Given the description of an element on the screen output the (x, y) to click on. 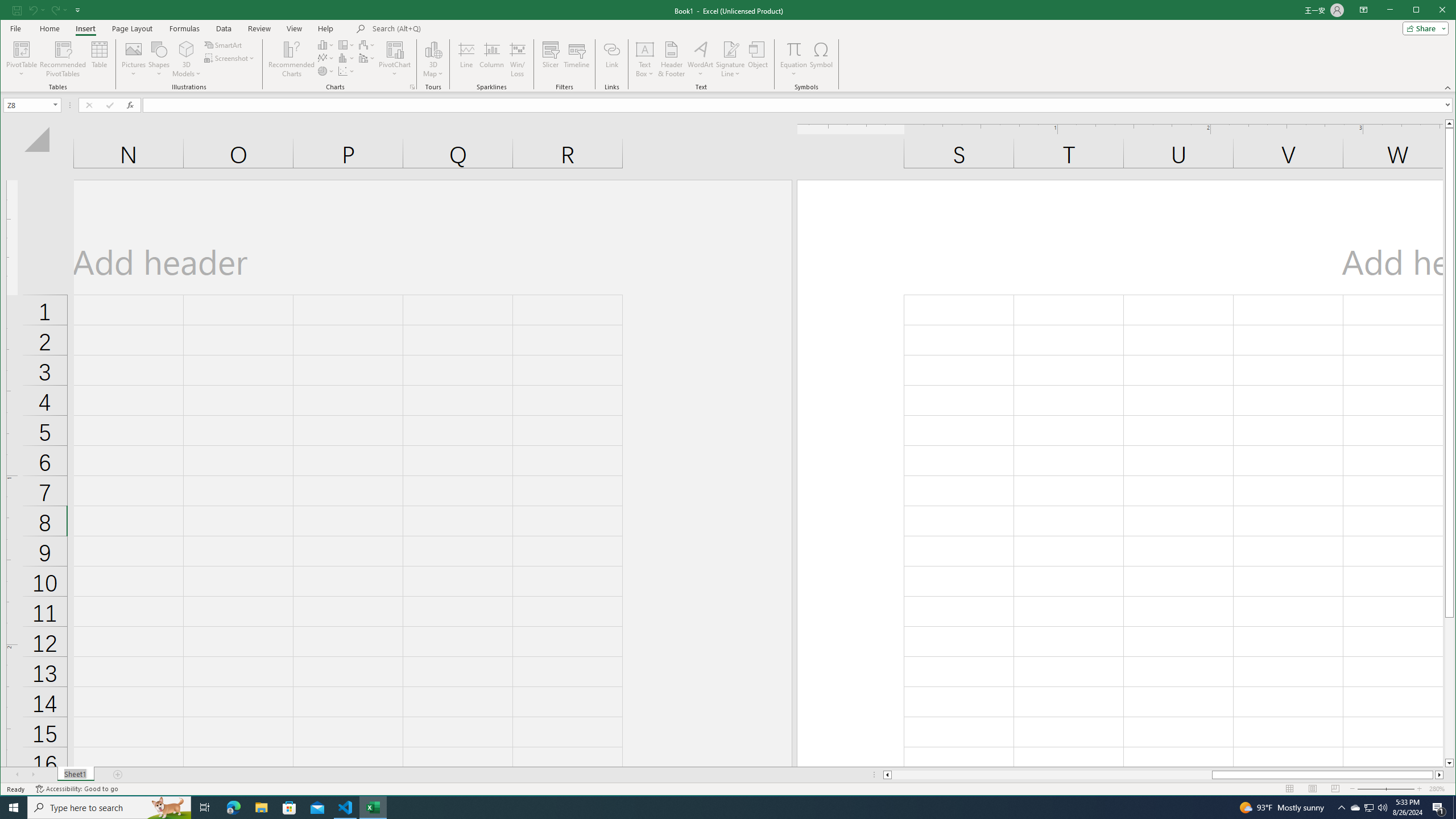
Maximize (1432, 11)
File Explorer (261, 807)
Signature Line (729, 59)
Insert Column or Bar Chart (325, 44)
Insert Pie or Doughnut Chart (325, 70)
